Given the description of an element on the screen output the (x, y) to click on. 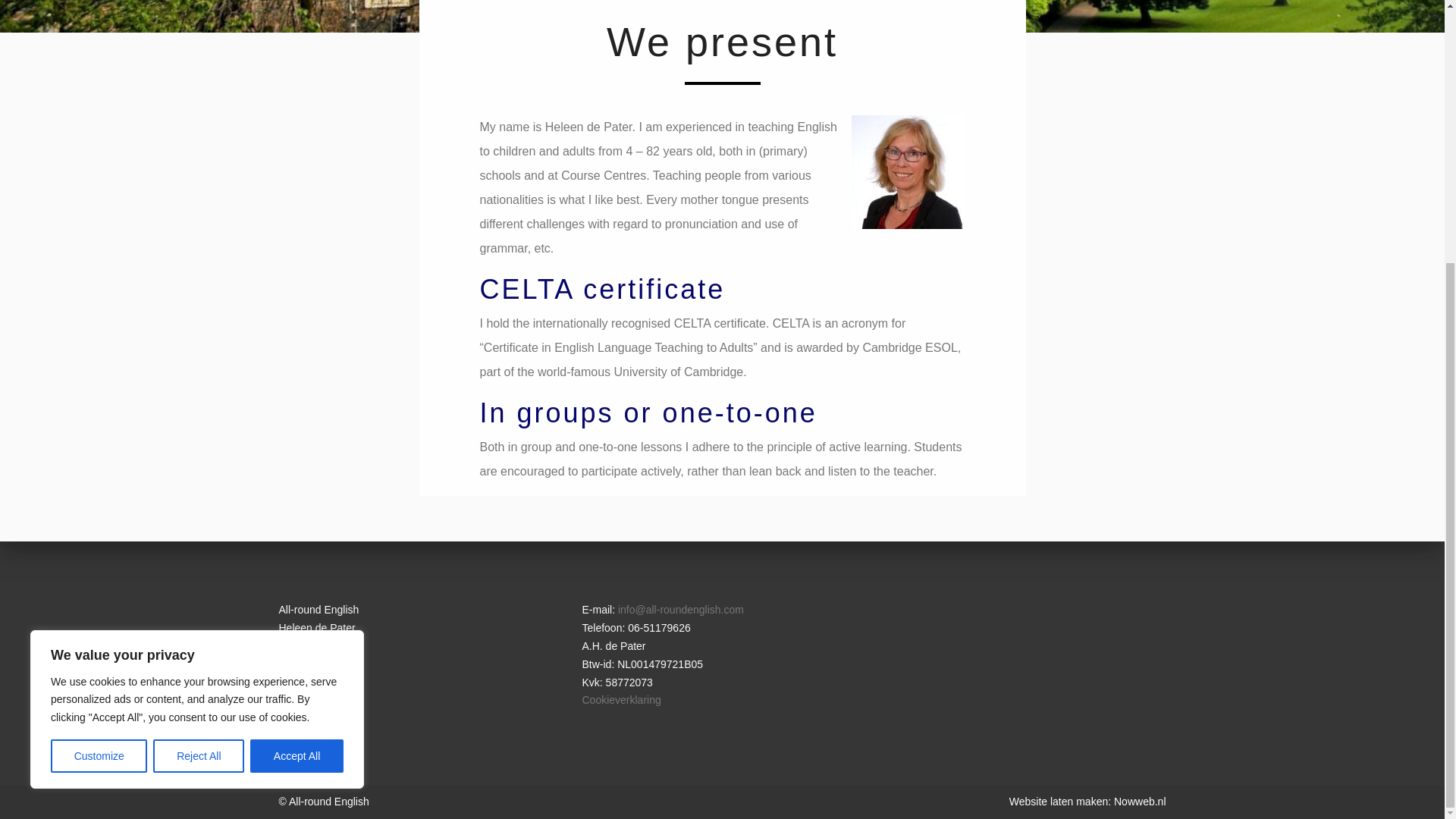
Reject All (198, 376)
Accept All (296, 376)
Customize (98, 376)
